Given the description of an element on the screen output the (x, y) to click on. 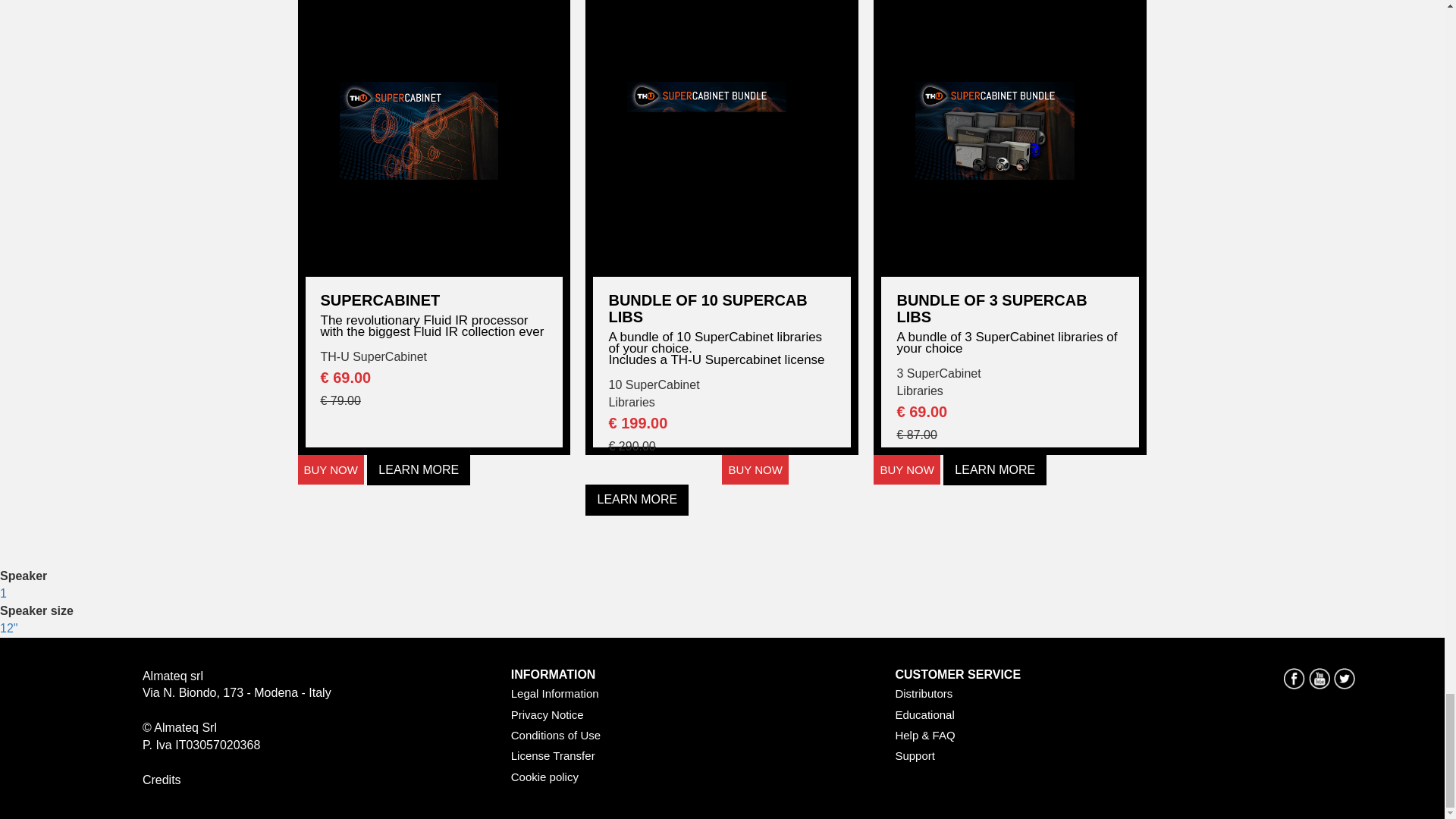
SUPERCABINET (433, 299)
BUNDLE OF 3 SUPERCAB LIBS (1010, 308)
LEARN MORE (418, 470)
BUNDLE OF 10 SUPERCAB LIBS (721, 308)
LEARN MORE (636, 499)
BUY NOW (906, 469)
BUY NOW (329, 469)
BUY NOW (754, 469)
